Given the description of an element on the screen output the (x, y) to click on. 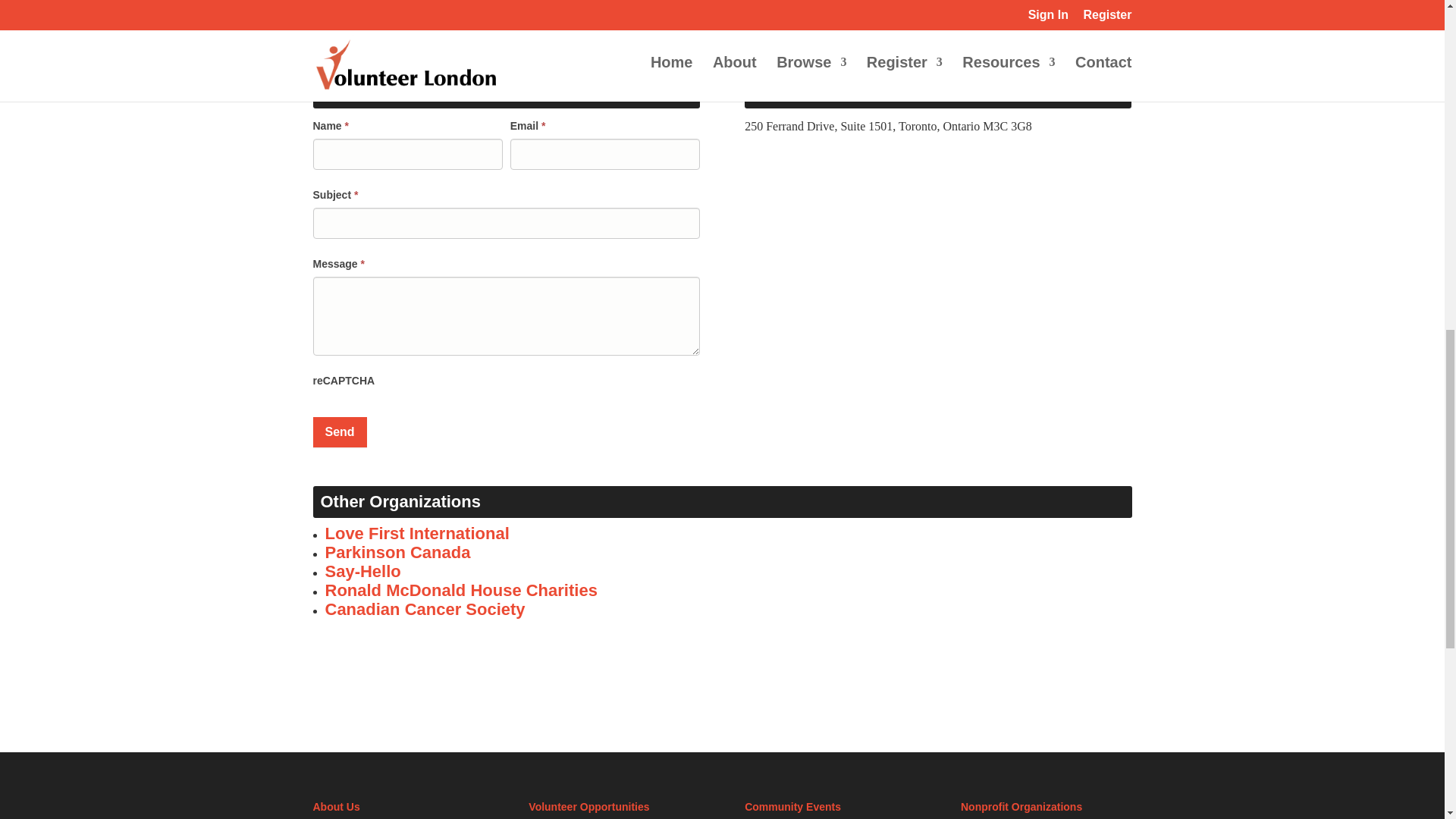
Say-Hello (362, 570)
Parkinson Canada (397, 551)
Canadian Cancer Society (424, 609)
Send (339, 431)
Ronald McDonald House Charities (460, 589)
Love First International (416, 533)
Send (339, 431)
